Given the description of an element on the screen output the (x, y) to click on. 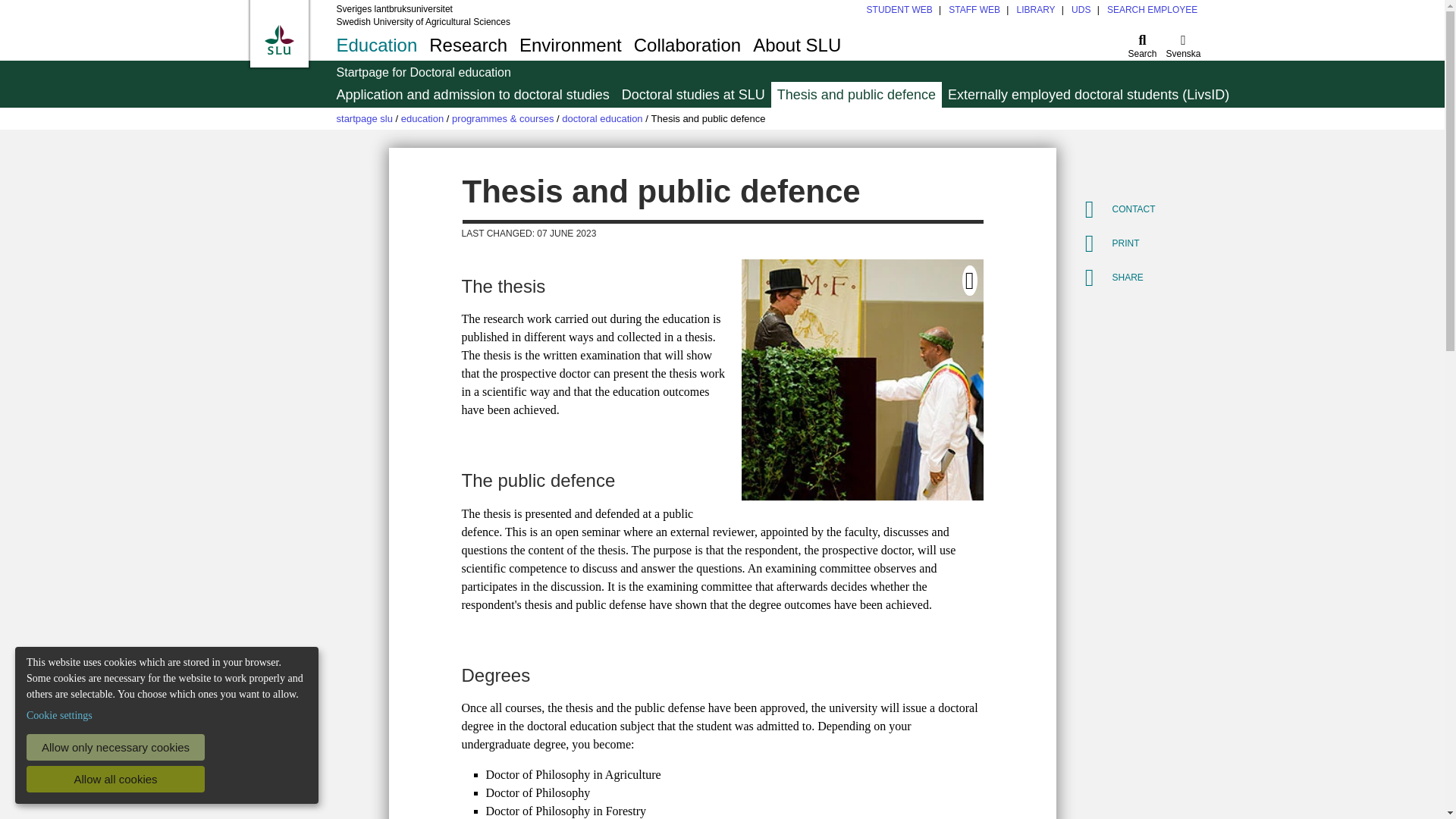
Cookie settings (59, 715)
Svenska (1183, 45)
Allow only necessary cookies (115, 746)
SEARCH EMPLOYEE (1151, 9)
Search (1142, 45)
Swedish University of Agricultural Sciences logo (720, 45)
LIBRARY (278, 39)
STUDENT WEB (1035, 9)
UDS (899, 9)
STAFF WEB (1080, 9)
Allow all cookies (974, 9)
Education (115, 778)
